Given the description of an element on the screen output the (x, y) to click on. 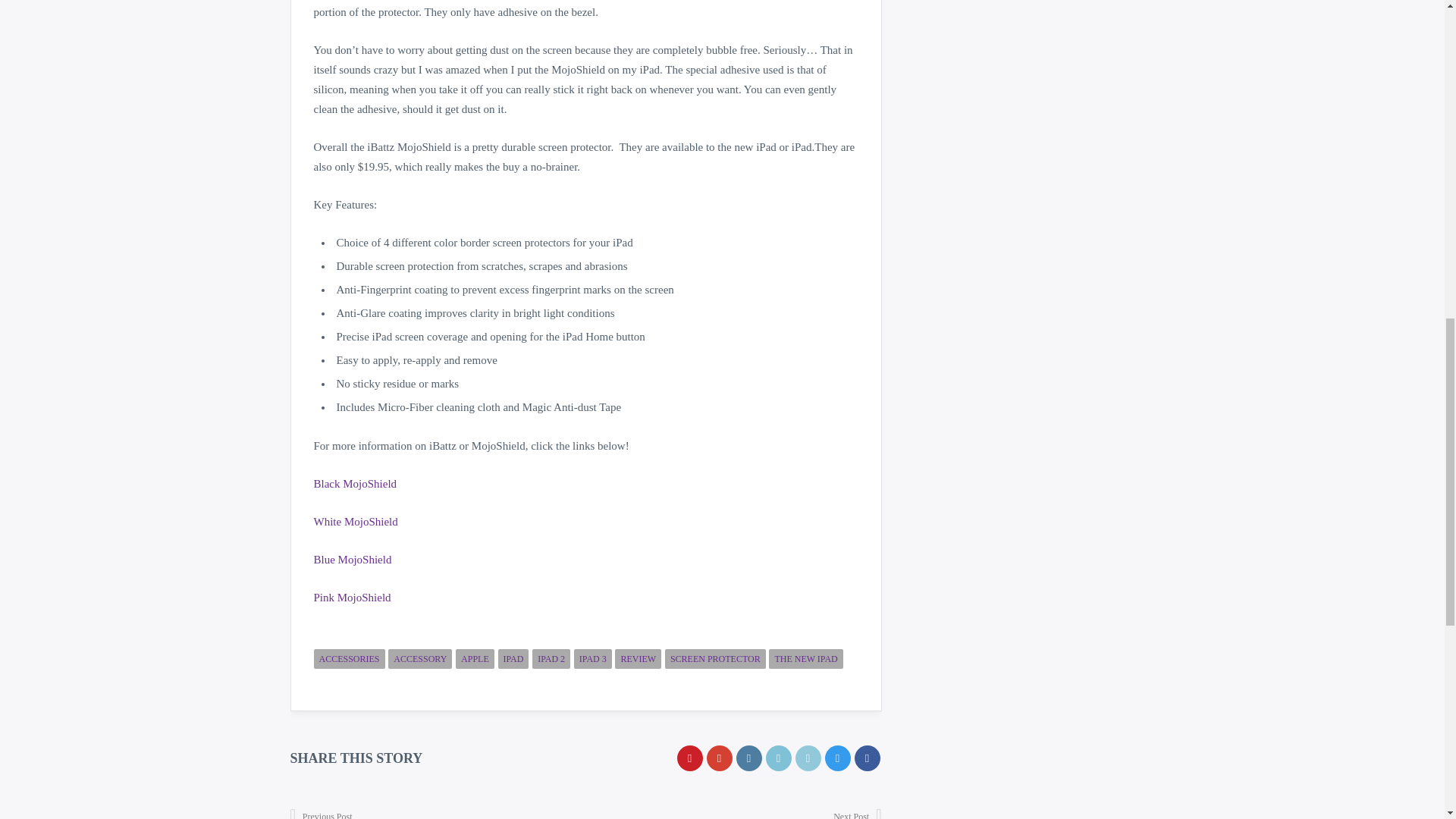
facebook (866, 758)
reddit (778, 758)
pinterest (689, 758)
tumblr (748, 758)
google (719, 758)
linkedin (807, 758)
twitter (837, 758)
